Given the description of an element on the screen output the (x, y) to click on. 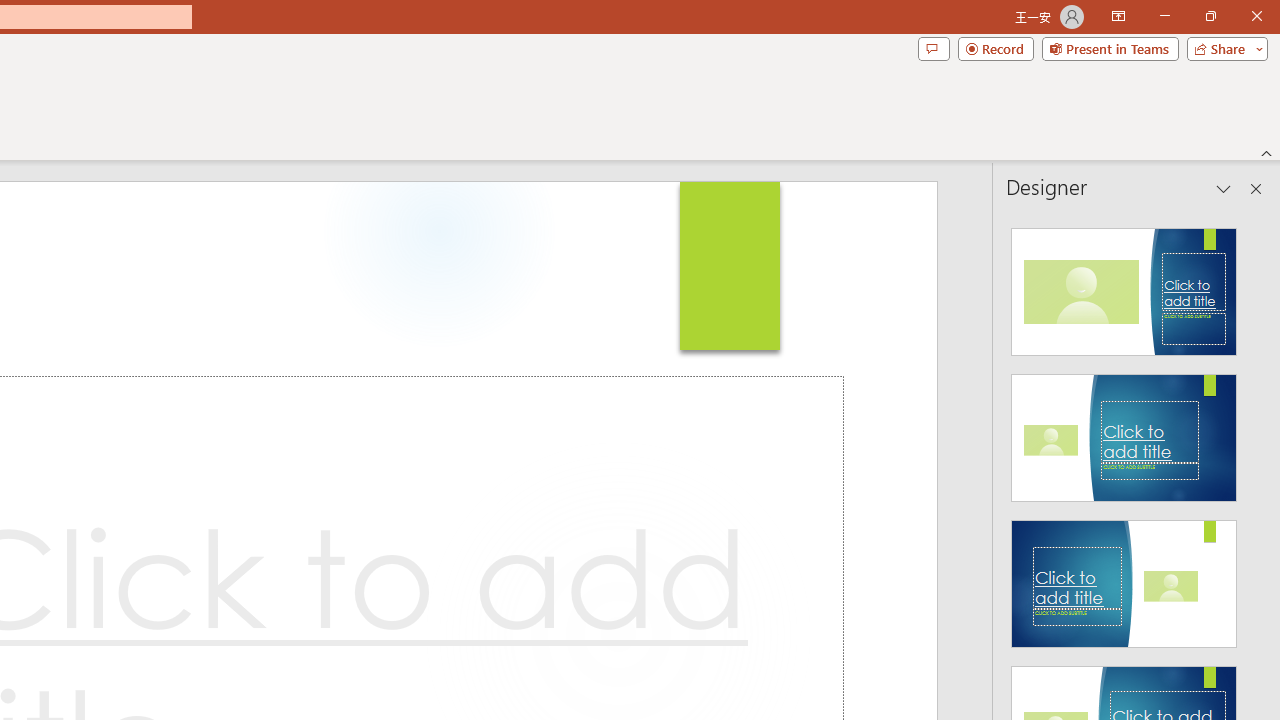
Recommended Design: Design Idea (1124, 286)
Design Idea (1124, 577)
